Given the description of an element on the screen output the (x, y) to click on. 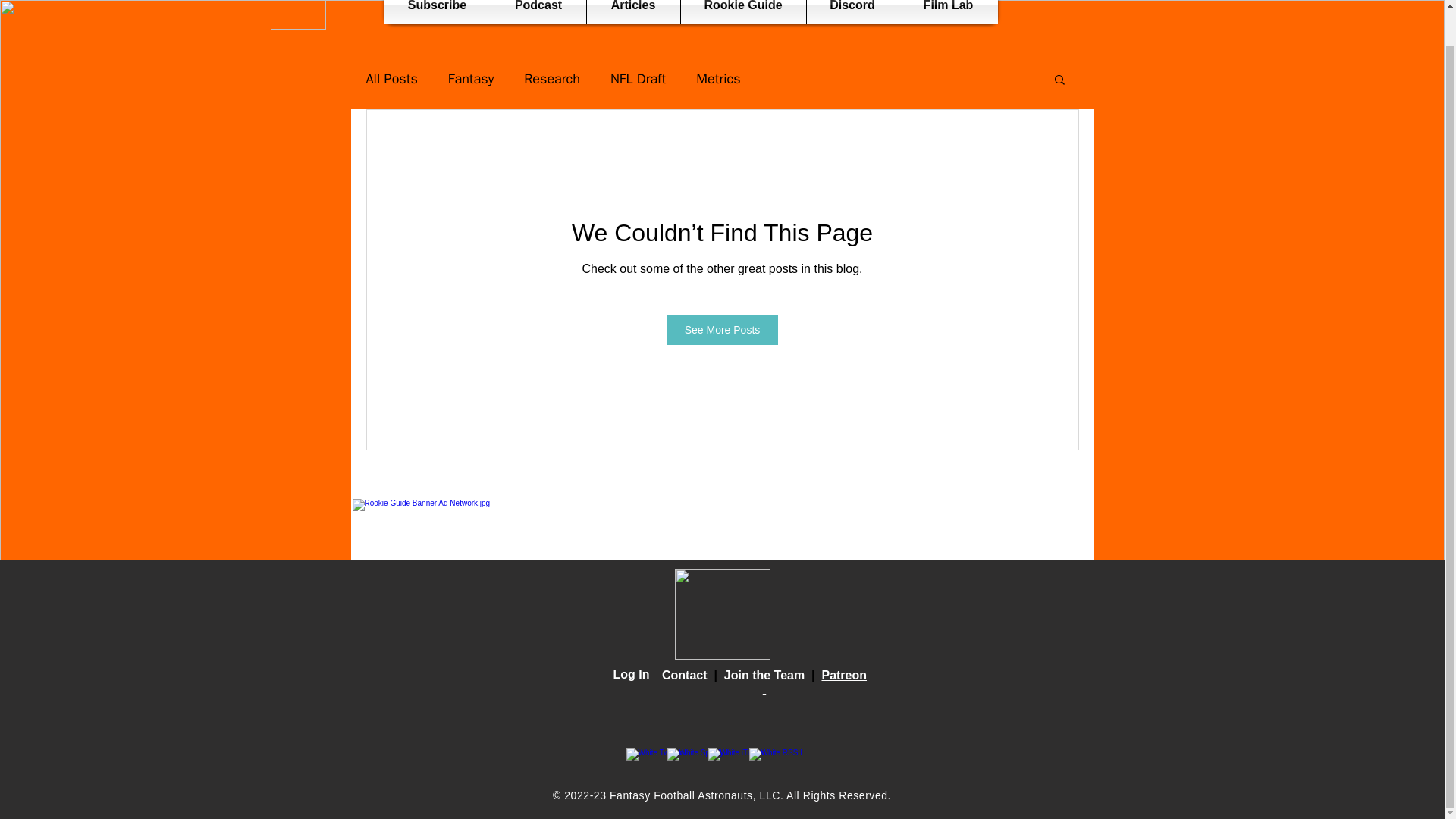
Film Lab (948, 12)
Research (551, 78)
All Posts (390, 78)
See More Posts (722, 329)
Podcast (539, 12)
NFL Draft (637, 78)
ffAstronautsMainLogo.png (722, 614)
Contact (684, 675)
Discord (852, 12)
Articles (632, 12)
